Given the description of an element on the screen output the (x, y) to click on. 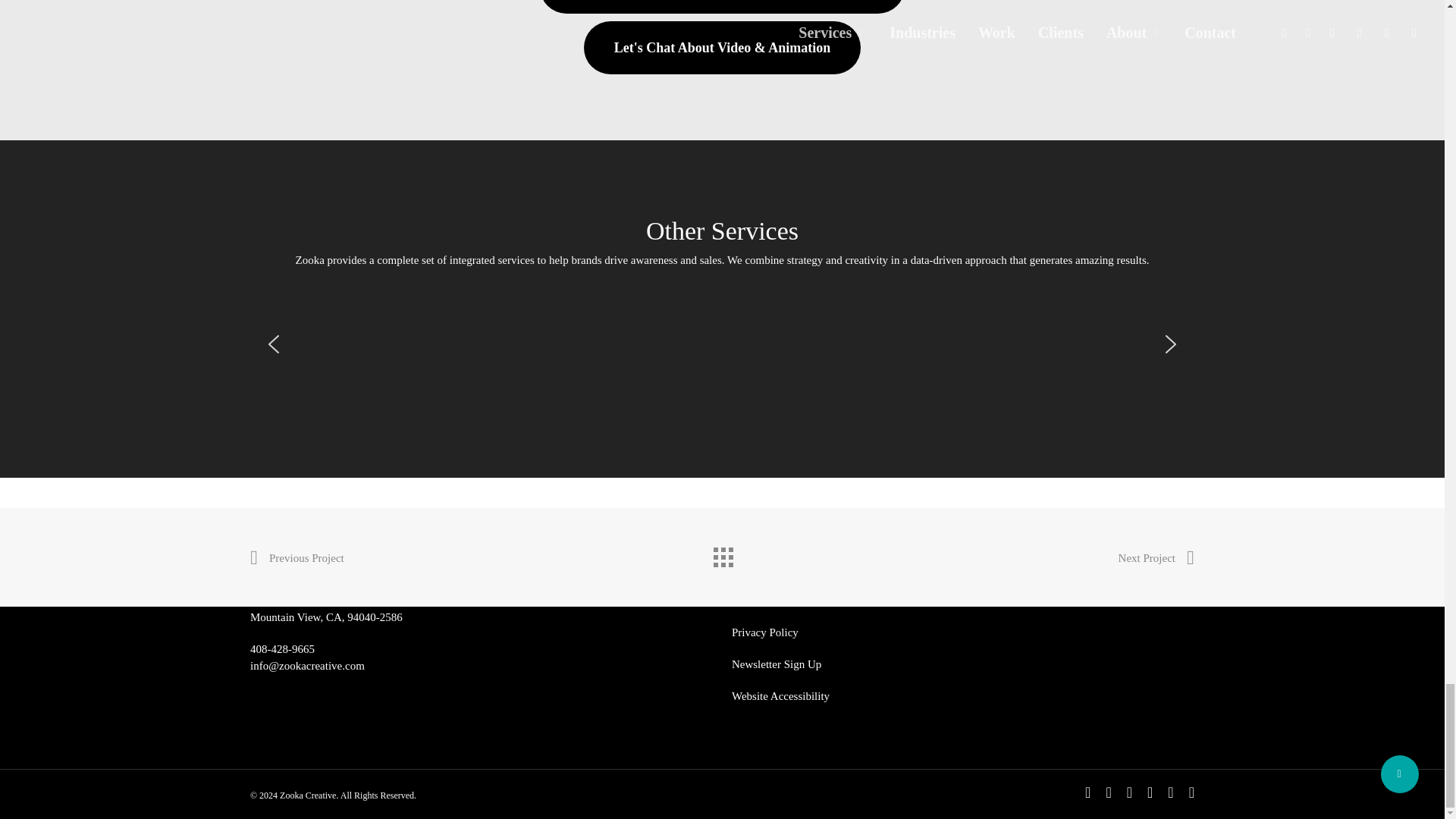
Back to all projects (721, 553)
